Given the description of an element on the screen output the (x, y) to click on. 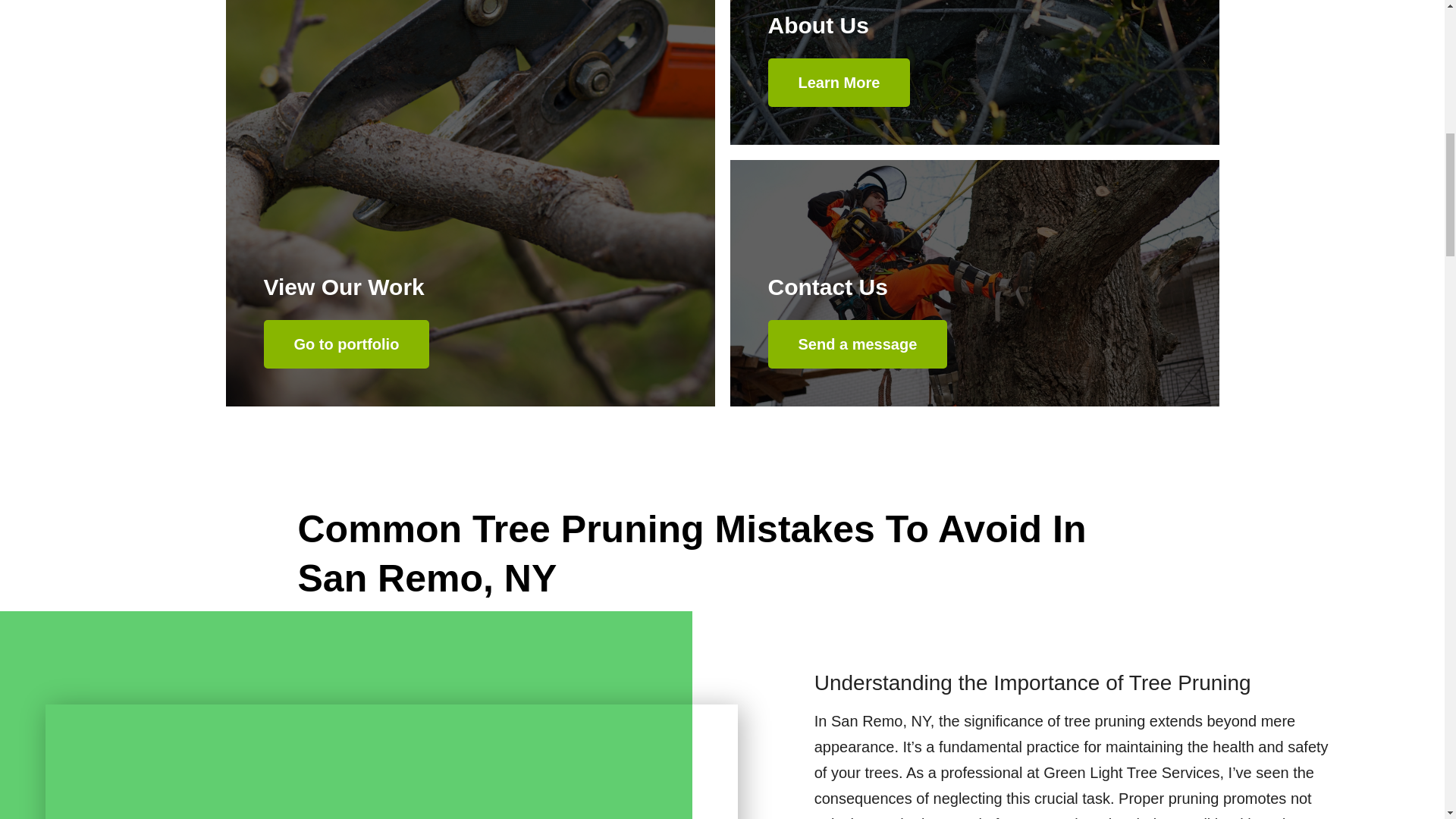
Go to portfolio (346, 344)
Send a message (857, 344)
Learn More (838, 82)
